Given the description of an element on the screen output the (x, y) to click on. 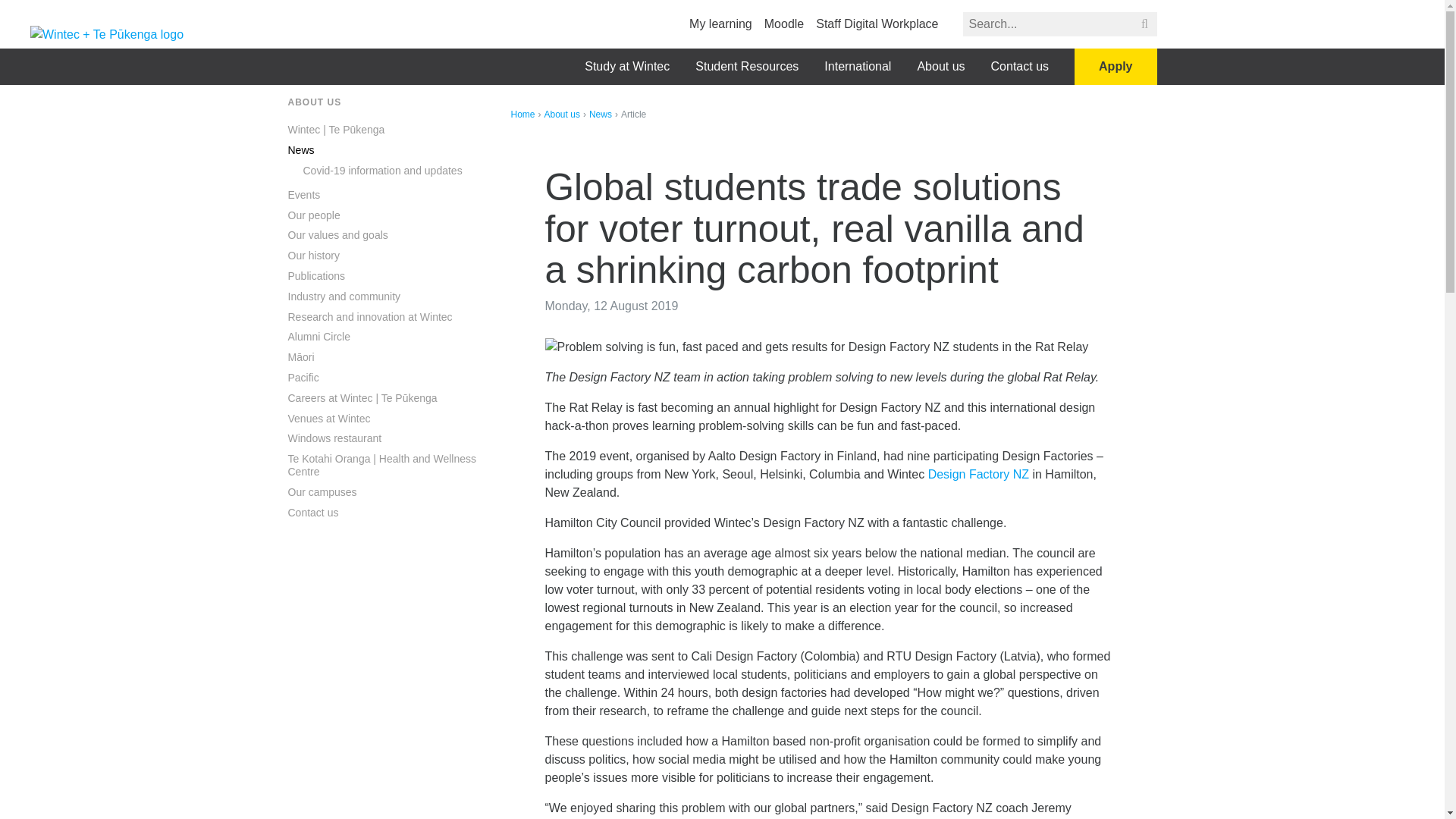
Our history (313, 255)
Our values and goals (338, 235)
Alumni Circle (319, 336)
Publications (317, 276)
International (857, 66)
Covid-19 information and updates (382, 170)
Staff Digital Workplace (876, 23)
News (301, 150)
Student Resources (746, 66)
Apply (1115, 66)
